Given the description of an element on the screen output the (x, y) to click on. 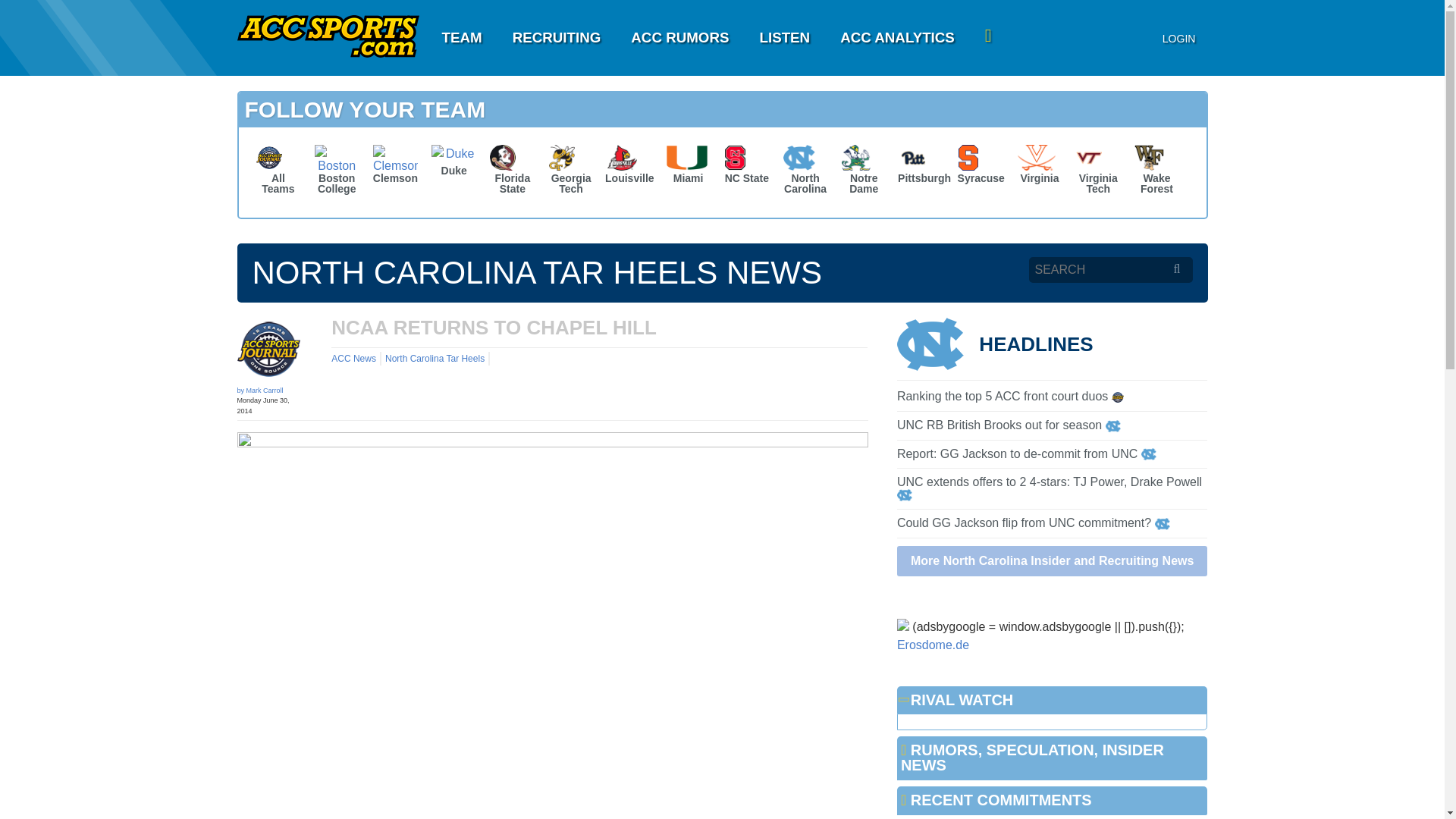
Miami (688, 166)
TEAM (461, 38)
ACC RUMORS (679, 38)
RECRUITING (556, 38)
Louisville (629, 166)
Pittsburgh (922, 166)
Duke (454, 163)
Clemson (395, 166)
Syracuse (981, 166)
